Given the description of an element on the screen output the (x, y) to click on. 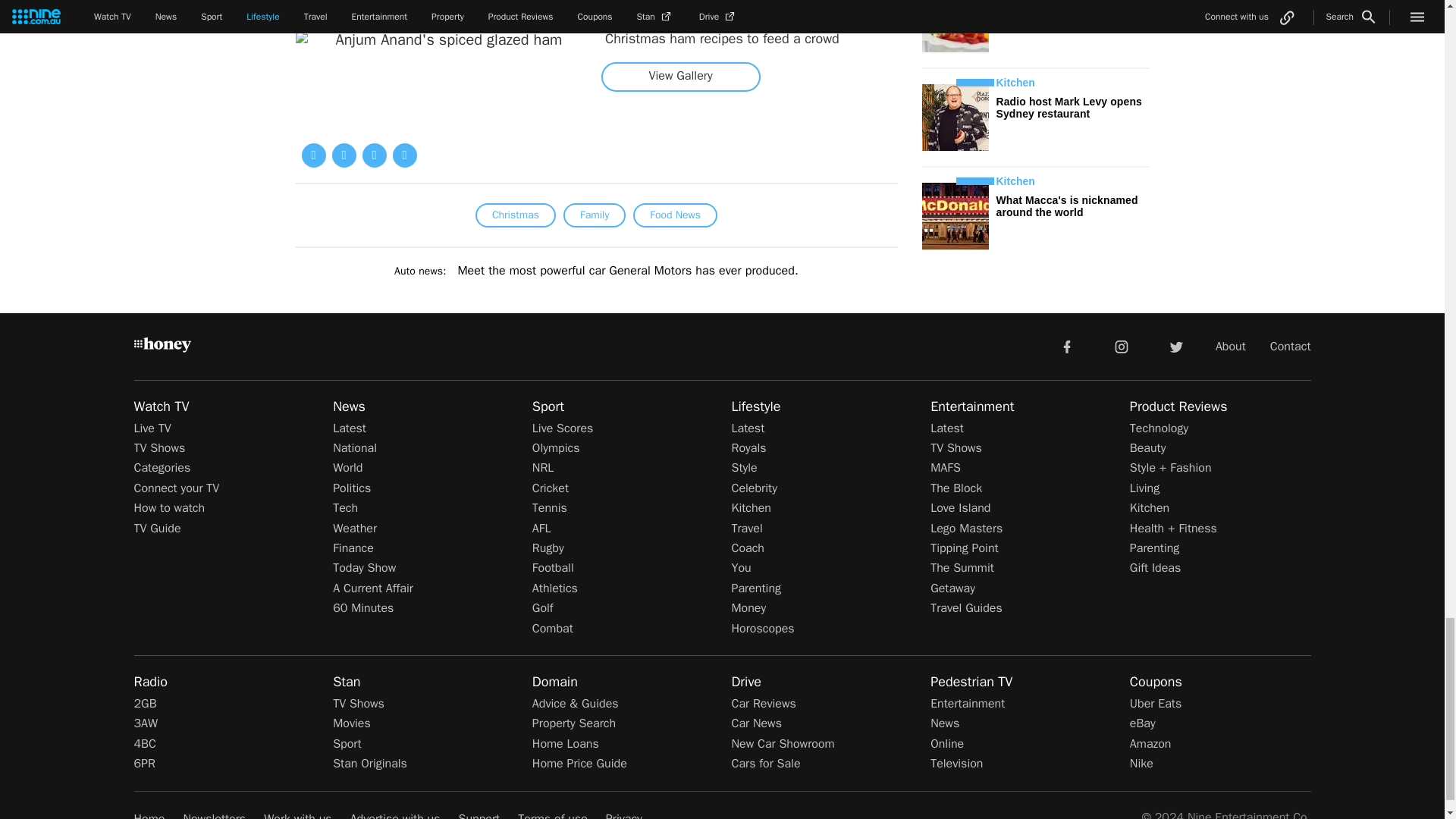
instagram (1121, 345)
facebook (1066, 345)
twitter (1175, 345)
View Gallery (680, 75)
